Given the description of an element on the screen output the (x, y) to click on. 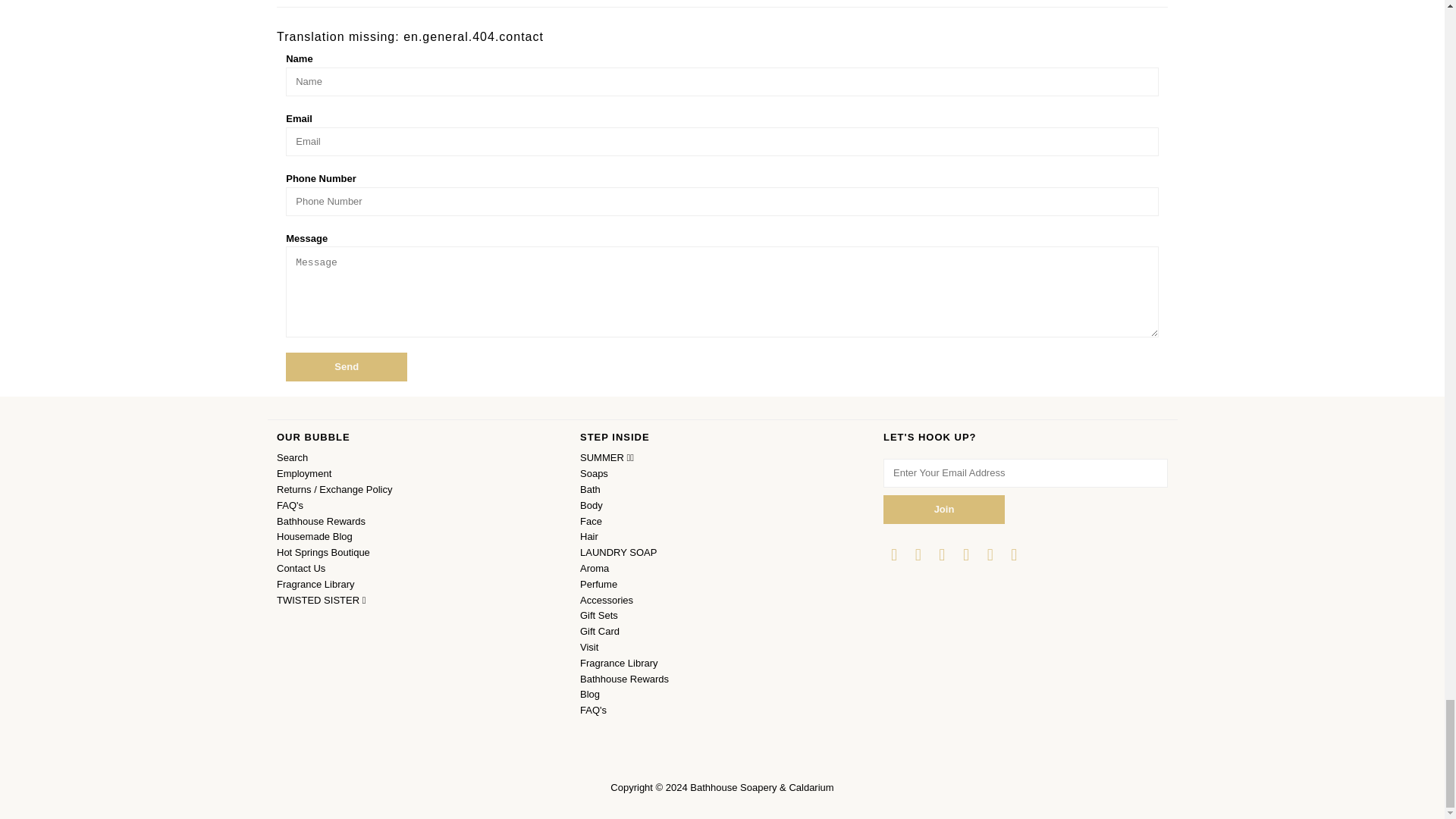
Join (943, 509)
Send (346, 366)
